Given the description of an element on the screen output the (x, y) to click on. 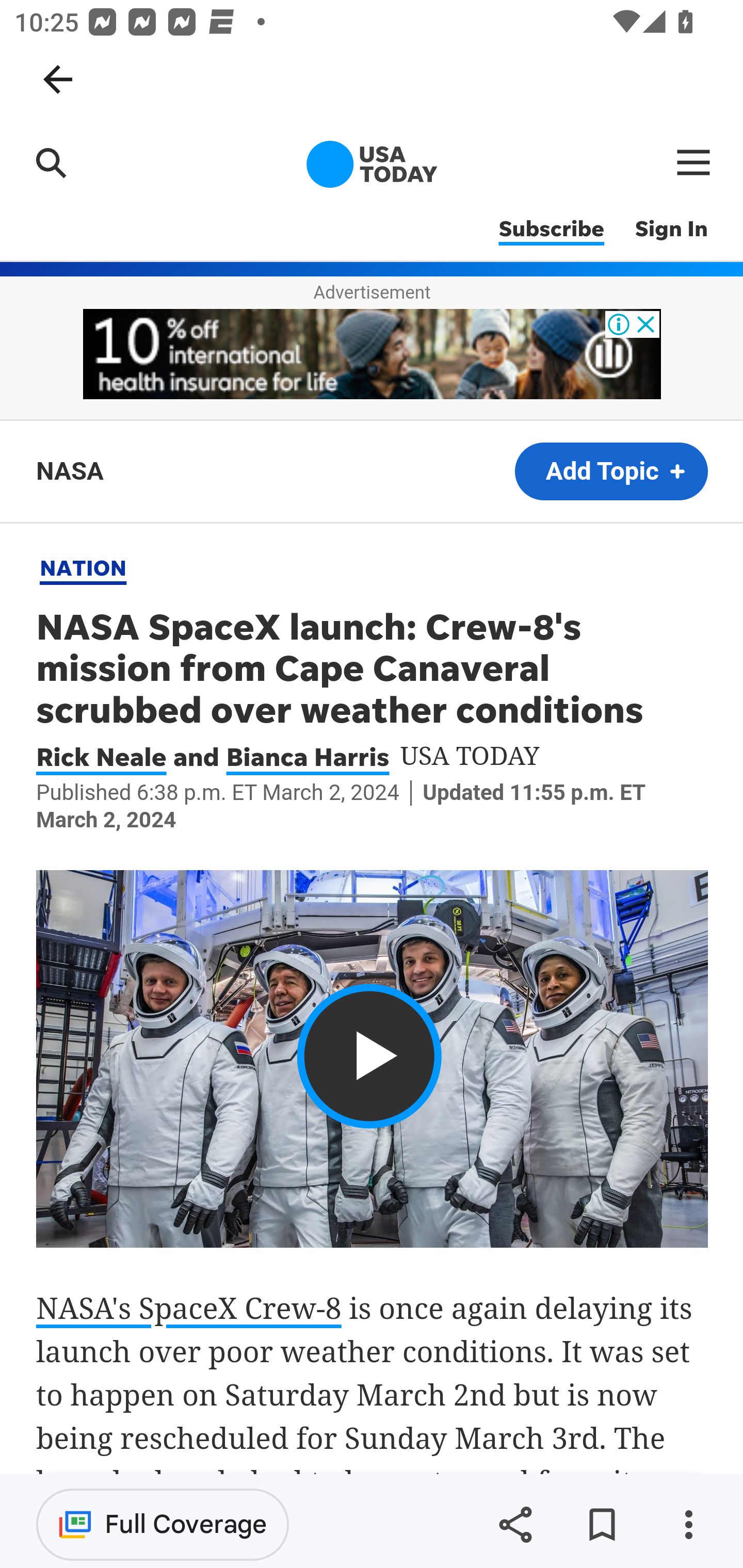
Navigate up (57, 79)
USA TODAY (371, 165)
Search (50, 162)
Global Navigation (693, 162)
Subscribe (550, 229)
Sign In (671, 229)
Advertisement (372, 354)
Add Topic (610, 470)
NATION (83, 566)
Rick Neale (101, 757)
Bianca Harris (307, 757)
Play YouTube video (372, 1059)
NASA's SpaceX Crew-8 (189, 1308)
Share (514, 1524)
Save for later (601, 1524)
More options (688, 1524)
Full Coverage (162, 1524)
